Given the description of an element on the screen output the (x, y) to click on. 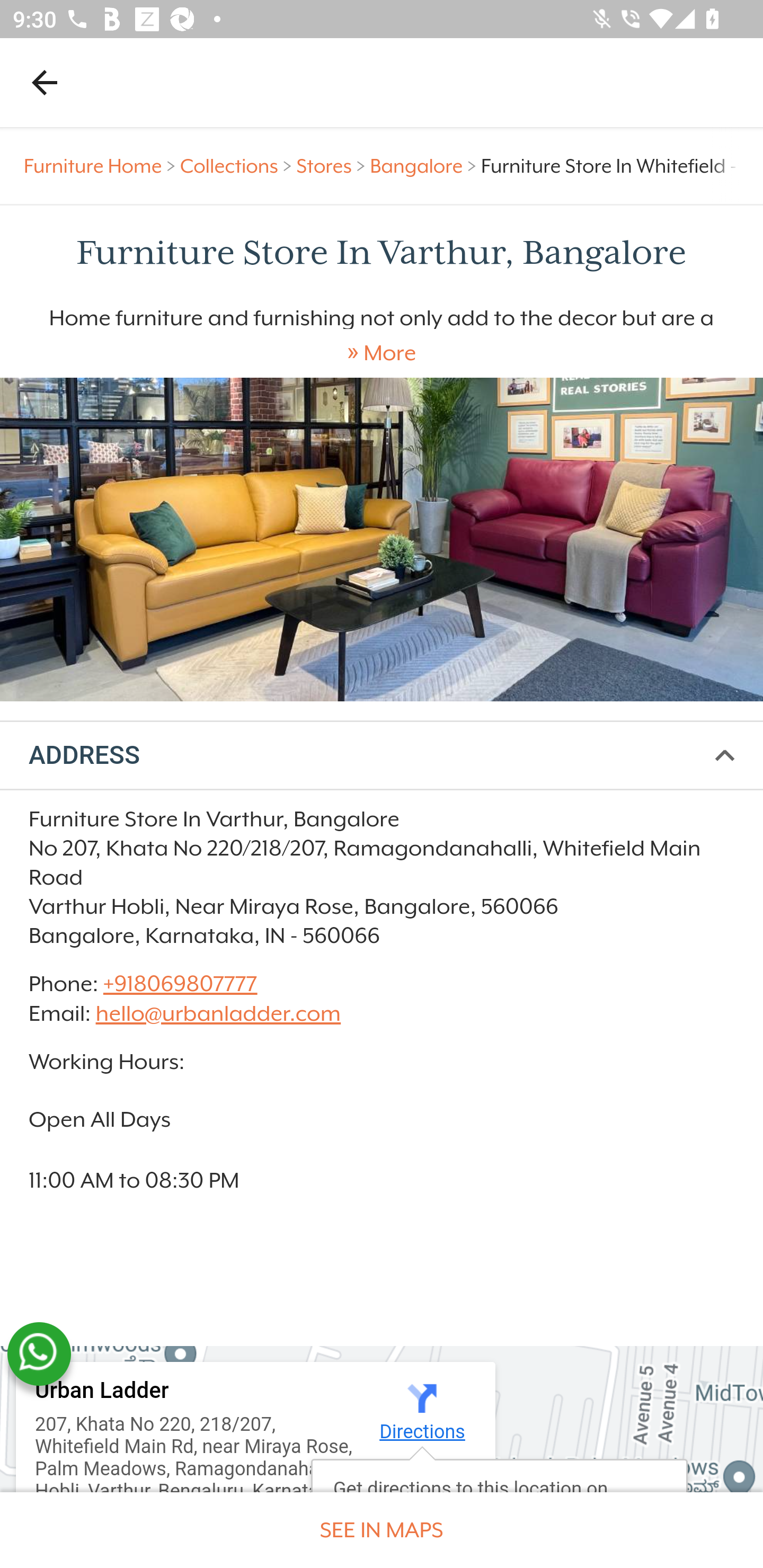
Navigate up (44, 82)
Furniture Home >  Furniture Home  >  (102, 165)
Collections >  Collections  >  (238, 165)
Stores >  Stores  >  (333, 165)
Bangalore >  Bangalore  >  (424, 165)
» More (381, 353)
Experience Centre (381, 539)
ADDRESS (381, 756)
+918069807777 (179, 983)
hello@urbanladder.com (218, 1013)
whatsapp (38, 1353)
SEE IN MAPS (381, 1530)
